Given the description of an element on the screen output the (x, y) to click on. 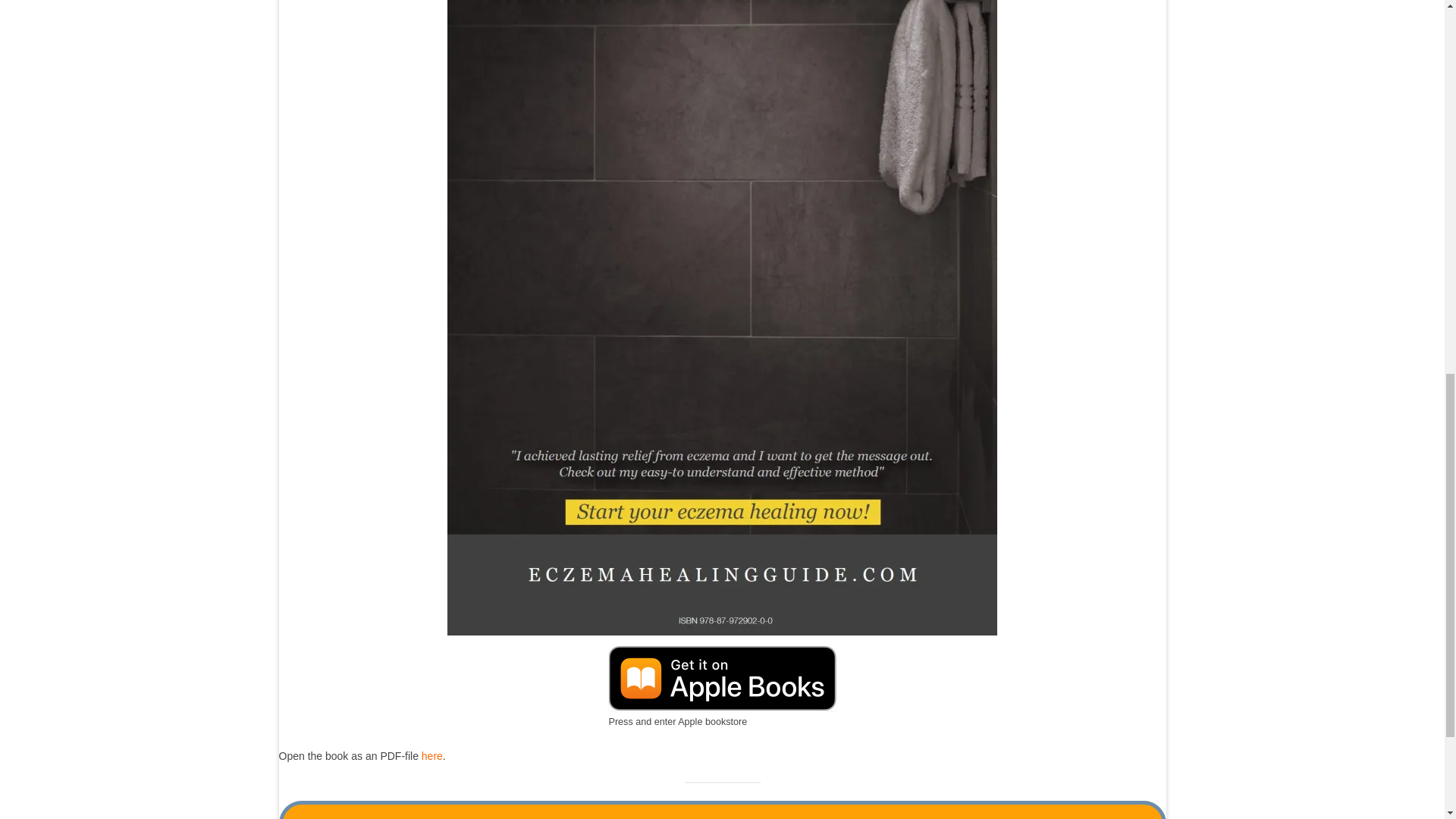
here (432, 756)
